Given the description of an element on the screen output the (x, y) to click on. 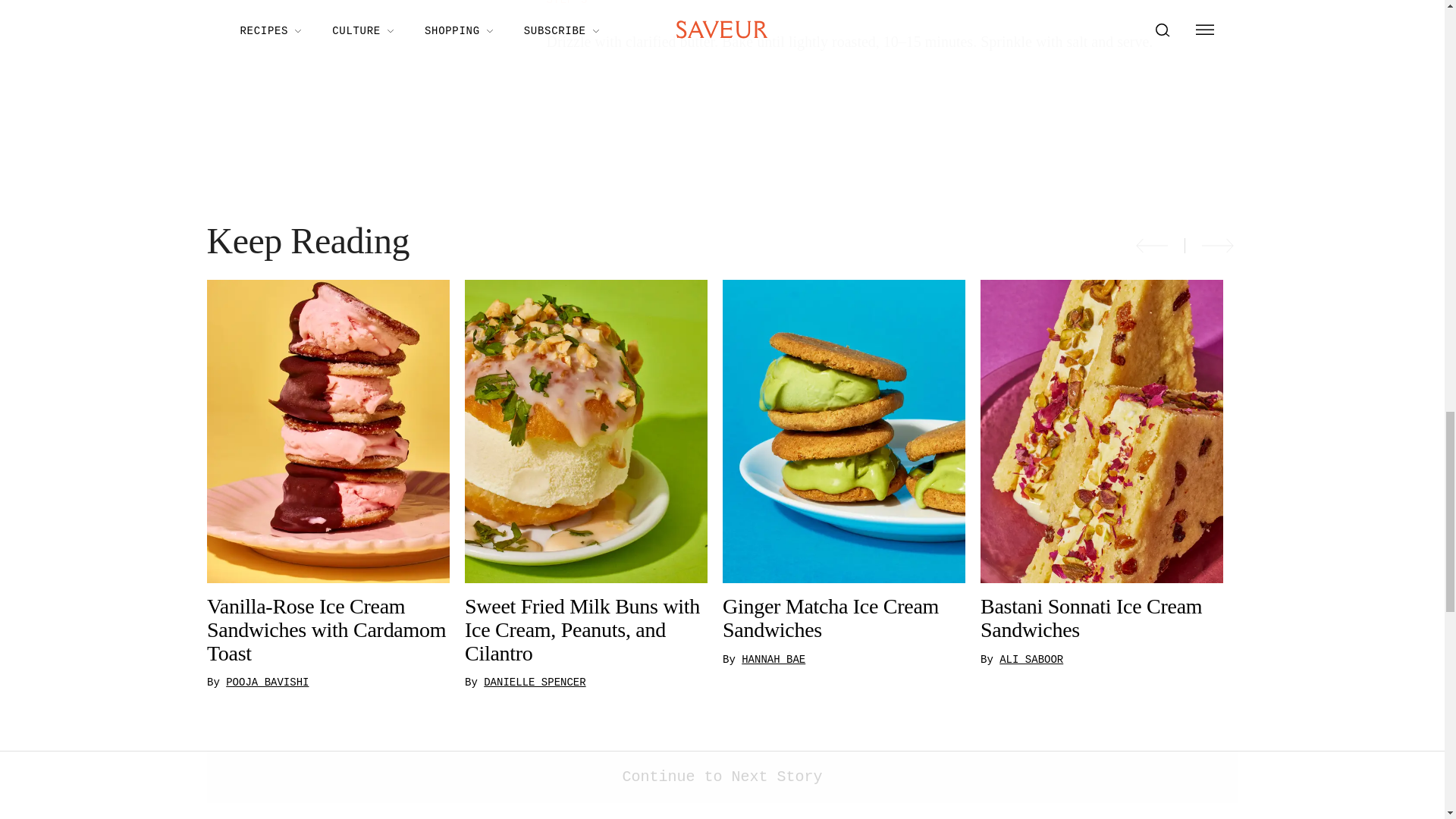
Vanilla-Rose Ice Cream Sandwiches with Cardamom Toast (327, 630)
POOJA BAVISHI (266, 682)
Sweet Fried Milk Buns with Ice Cream, Peanuts, and Cilantro (585, 630)
